Given the description of an element on the screen output the (x, y) to click on. 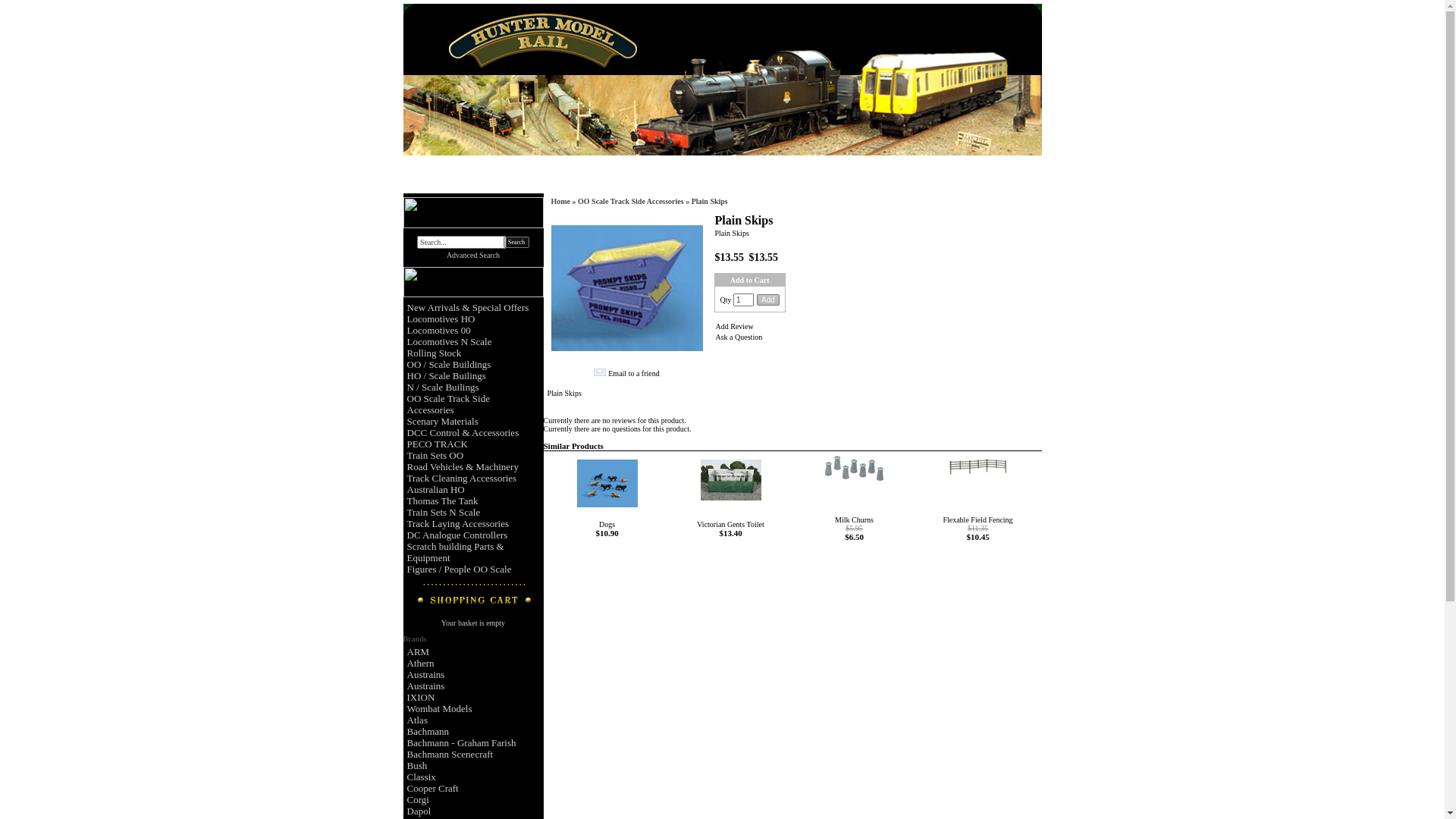
Flexable Field Fencing Element type: text (977, 519)
Dogs Element type: text (607, 524)
VIEW CART / BASKET Element type: text (910, 177)
ORDERING INFORMATION Element type: text (677, 177)
Bachmann Element type: text (428, 731)
Track Cleaning Accessories Element type: text (461, 477)
Dapol Element type: text (419, 810)
HO / Scale Builings Element type: text (446, 375)
ARM Element type: text (418, 651)
Scenary Materials Element type: text (442, 420)
N / Scale Builings Element type: text (443, 386)
Wombat Models Element type: text (439, 708)
Bachmann Scenecraft Element type: text (450, 753)
Home Element type: text (560, 201)
Add Element type: text (767, 299)
ABOUT US Element type: text (548, 177)
Scratch building Parts & Equipment Element type: text (454, 551)
Atlas Element type: text (417, 719)
ORDER TRACKING Element type: text (826, 177)
Victorian Gents Toilet Element type: text (730, 524)
Austrains Element type: text (425, 685)
Advanced Search Element type: text (472, 255)
Ask a Question Element type: text (738, 336)
Email to a friend Element type: text (633, 372)
Track Laying Accessories Element type: text (458, 523)
Locomotives HO Element type: text (441, 318)
Search Element type: text (516, 241)
Locomotives N Scale Element type: text (449, 341)
Bush Element type: text (417, 765)
DCC Control & Accessories Element type: text (463, 432)
Bachmann - Graham Farish Element type: text (461, 742)
DC Analogue Controllers Element type: text (457, 534)
Figures / People OO Scale Element type: text (459, 568)
Locomotives 00 Element type: text (438, 329)
Athern Element type: text (420, 662)
New Arrivals & Special Offers Element type: text (468, 307)
CONTACT US Element type: text (759, 177)
OO Scale Track Side Accessories Element type: text (630, 201)
Add Review Element type: text (734, 326)
IVAN'S INFO Element type: text (597, 177)
Corgi Element type: text (417, 799)
PECO TRACK Element type: text (437, 443)
Road Vehicles & Machinery Element type: text (462, 466)
Australian HO Element type: text (435, 489)
Train Sets N Scale Element type: text (443, 511)
HOME PAGE Element type: text (498, 177)
OO / Scale Buildings Element type: text (449, 364)
Classix Element type: text (421, 776)
Plain Skips Element type: hover (626, 288)
Train Sets OO Element type: text (435, 455)
Thomas The Tank Element type: text (442, 500)
Cooper Craft Element type: text (432, 787)
IXION Element type: text (421, 696)
OO Scale Track Side Accessories Element type: text (447, 403)
Milk Churns Element type: text (853, 519)
Rolling Stock Element type: text (434, 352)
Austrains Element type: text (425, 674)
